Given the description of an element on the screen output the (x, y) to click on. 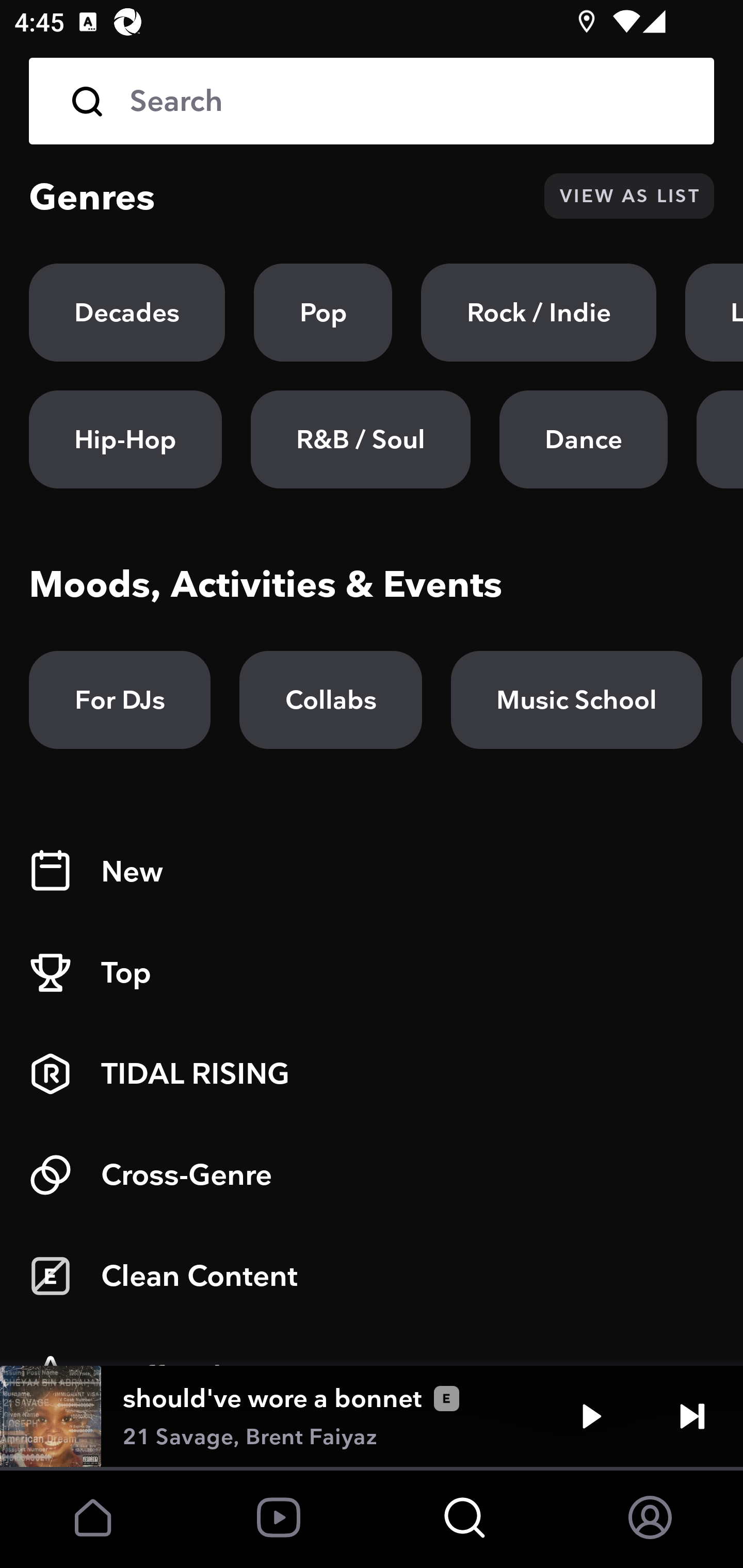
Search (371, 101)
Search (407, 100)
VIEW AS LIST (629, 195)
Decades (126, 312)
Pop (323, 312)
Rock / Indie (538, 312)
Hip-Hop (125, 439)
R&B / Soul (360, 439)
Dance (583, 439)
For DJs (119, 699)
Collabs (330, 699)
Music School (576, 699)
New (371, 871)
Top (371, 972)
TIDAL RISING (371, 1073)
Cross-Genre (371, 1175)
Clean Content (371, 1276)
Play (590, 1416)
